Given the description of an element on the screen output the (x, y) to click on. 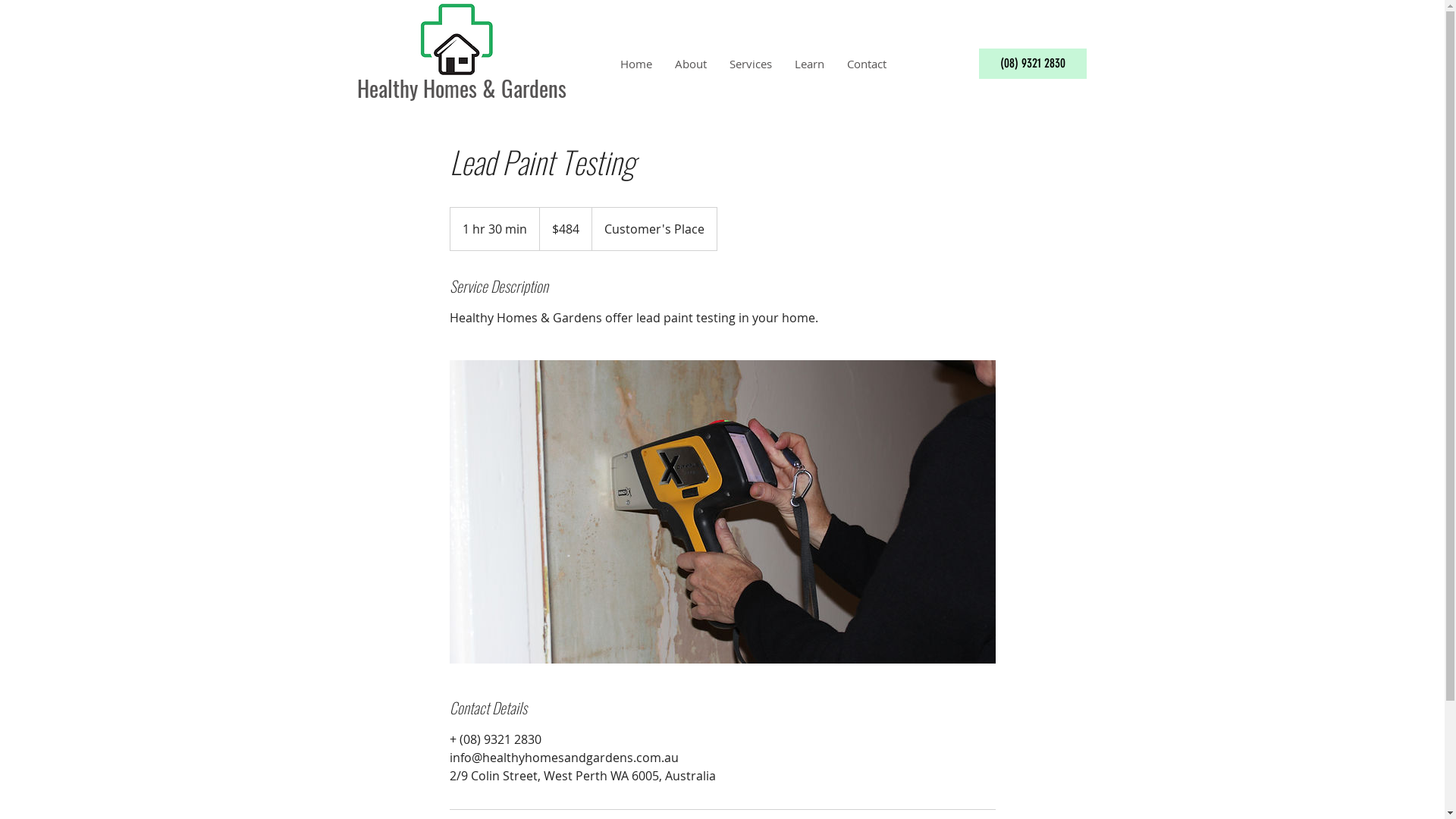
(08) 9321 2830 Element type: text (1031, 63)
Home Element type: text (635, 63)
Services Element type: text (749, 63)
Contact Element type: text (866, 63)
Learn Element type: text (808, 63)
